Given the description of an element on the screen output the (x, y) to click on. 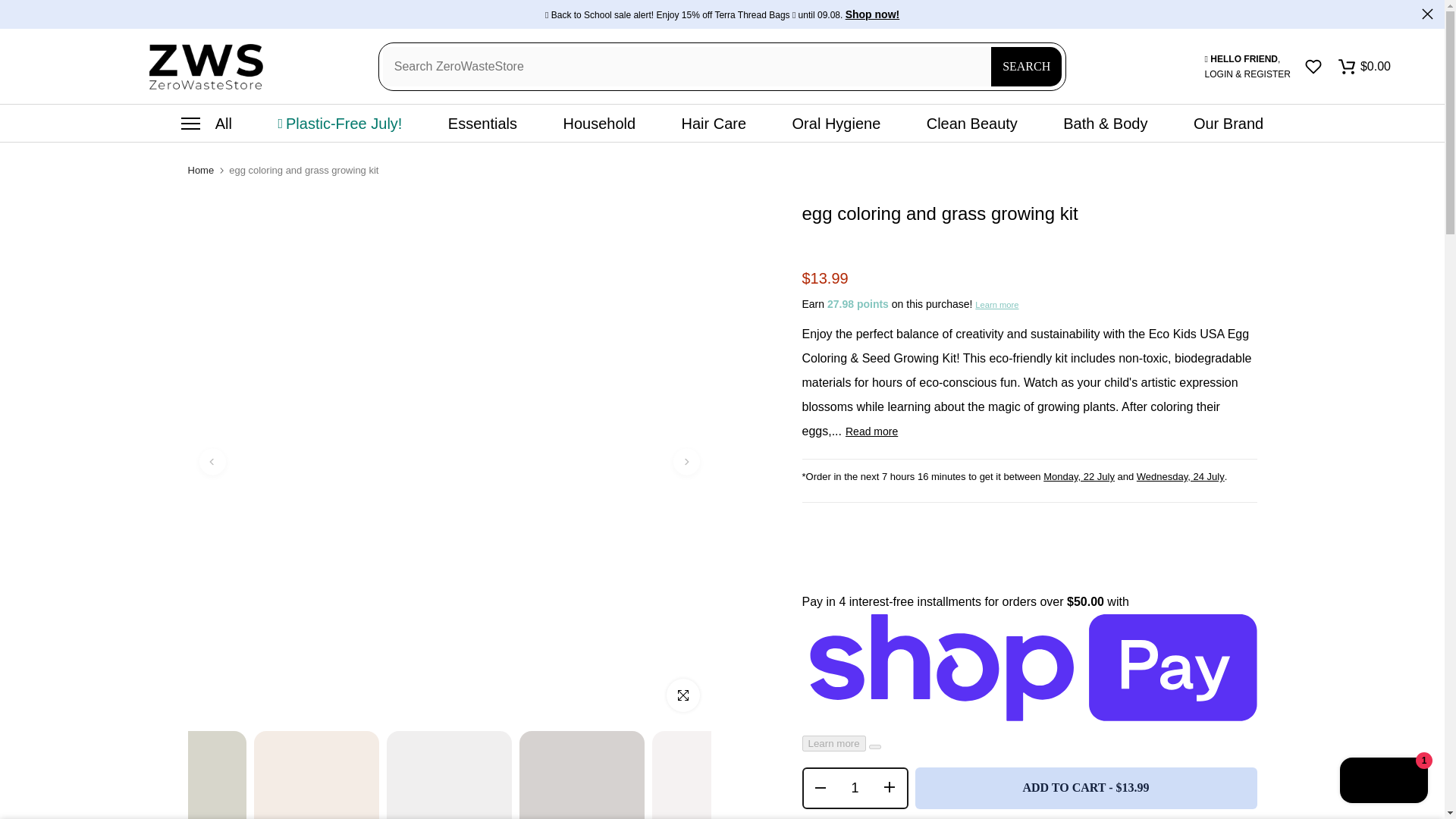
Essentials (483, 123)
close (1427, 12)
Shop now! (872, 14)
SEARCH (1026, 66)
All (205, 123)
Skip to content (10, 7)
1 (854, 788)
Shopify online store chat (1383, 781)
Plastic-Free July! (339, 123)
Terra Thread (872, 14)
